Given the description of an element on the screen output the (x, y) to click on. 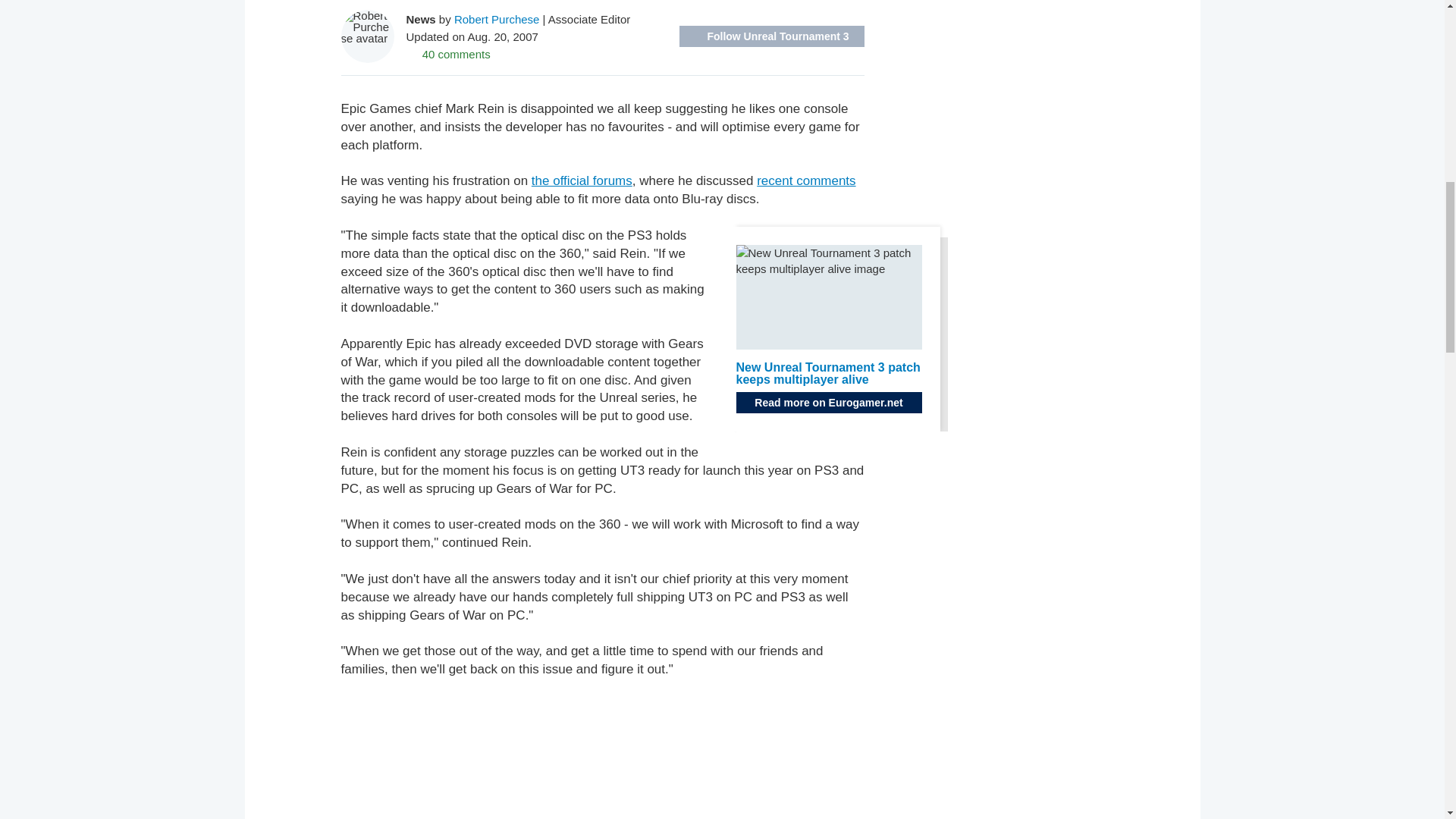
Follow Unreal Tournament 3 (771, 35)
New Unreal Tournament 3 patch keeps multiplayer alive (827, 373)
40 comments (448, 52)
recent comments (806, 180)
the official forums (581, 180)
Read more on Eurogamer.net (828, 402)
Robert Purchese (497, 18)
